Given the description of an element on the screen output the (x, y) to click on. 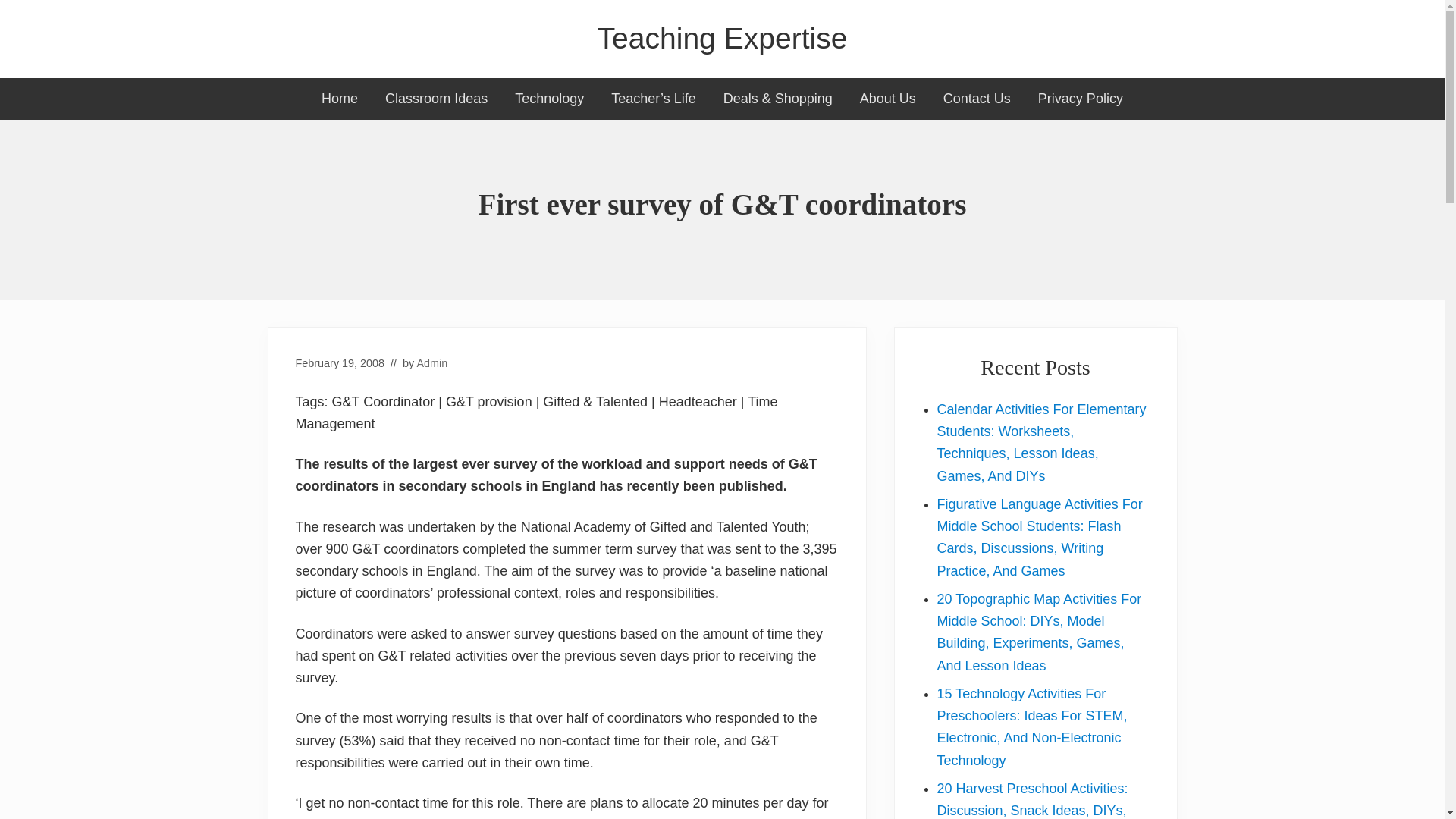
Contact Us (977, 98)
Technology (548, 98)
Privacy Policy (1081, 98)
About Us (887, 98)
Admin (432, 363)
Classroom Ideas (435, 98)
Teaching Expertise (721, 38)
Home (339, 98)
